Given the description of an element on the screen output the (x, y) to click on. 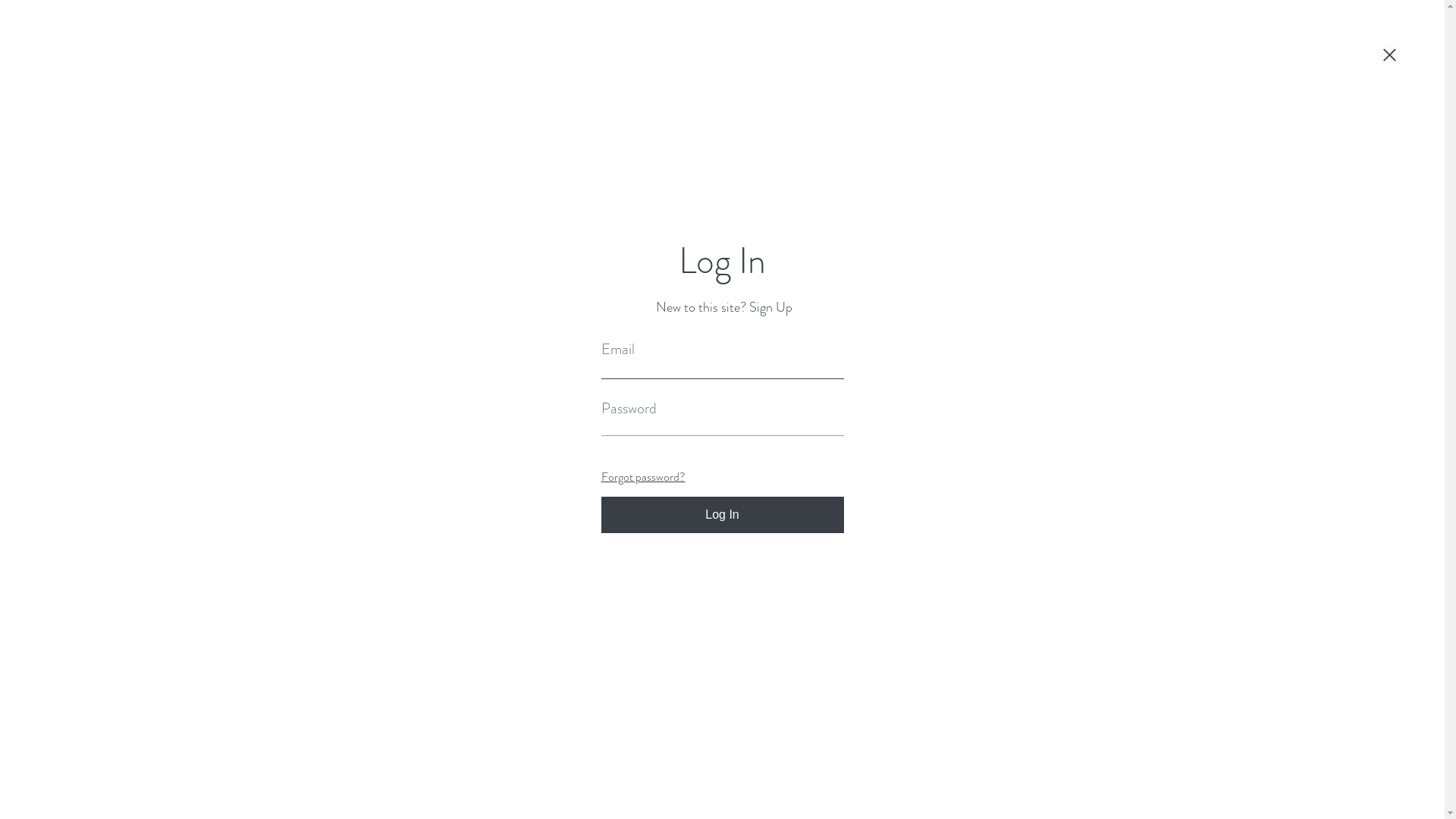
Log In Element type: text (721, 514)
Sign Up Element type: text (770, 307)
Forgot password? Element type: text (642, 476)
